Given the description of an element on the screen output the (x, y) to click on. 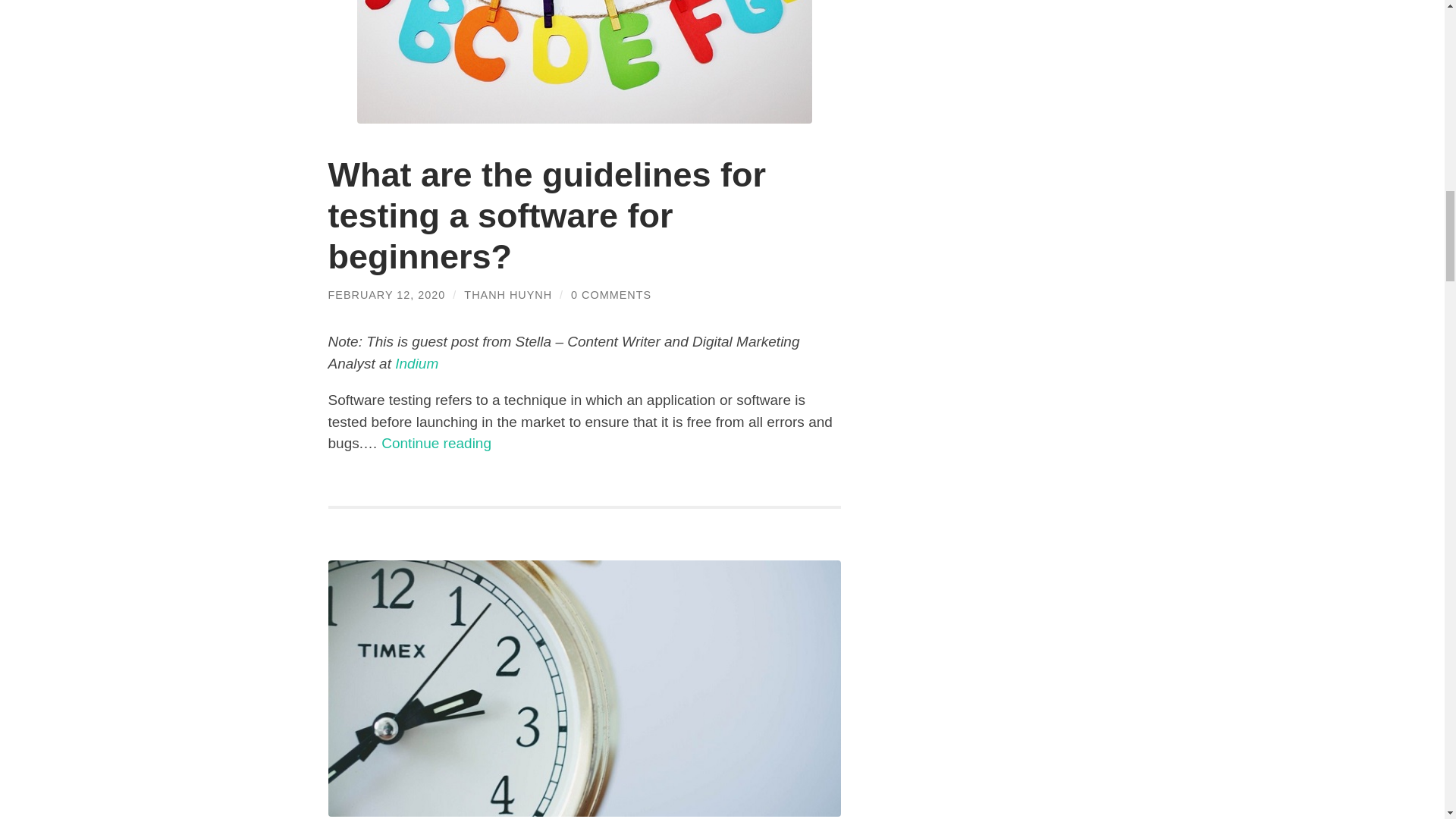
Continue reading (436, 442)
0 COMMENTS (610, 295)
FEBRUARY 12, 2020 (386, 295)
Posts by Thanh Huynh (507, 295)
Indium (416, 363)
THANH HUYNH (507, 295)
